Given the description of an element on the screen output the (x, y) to click on. 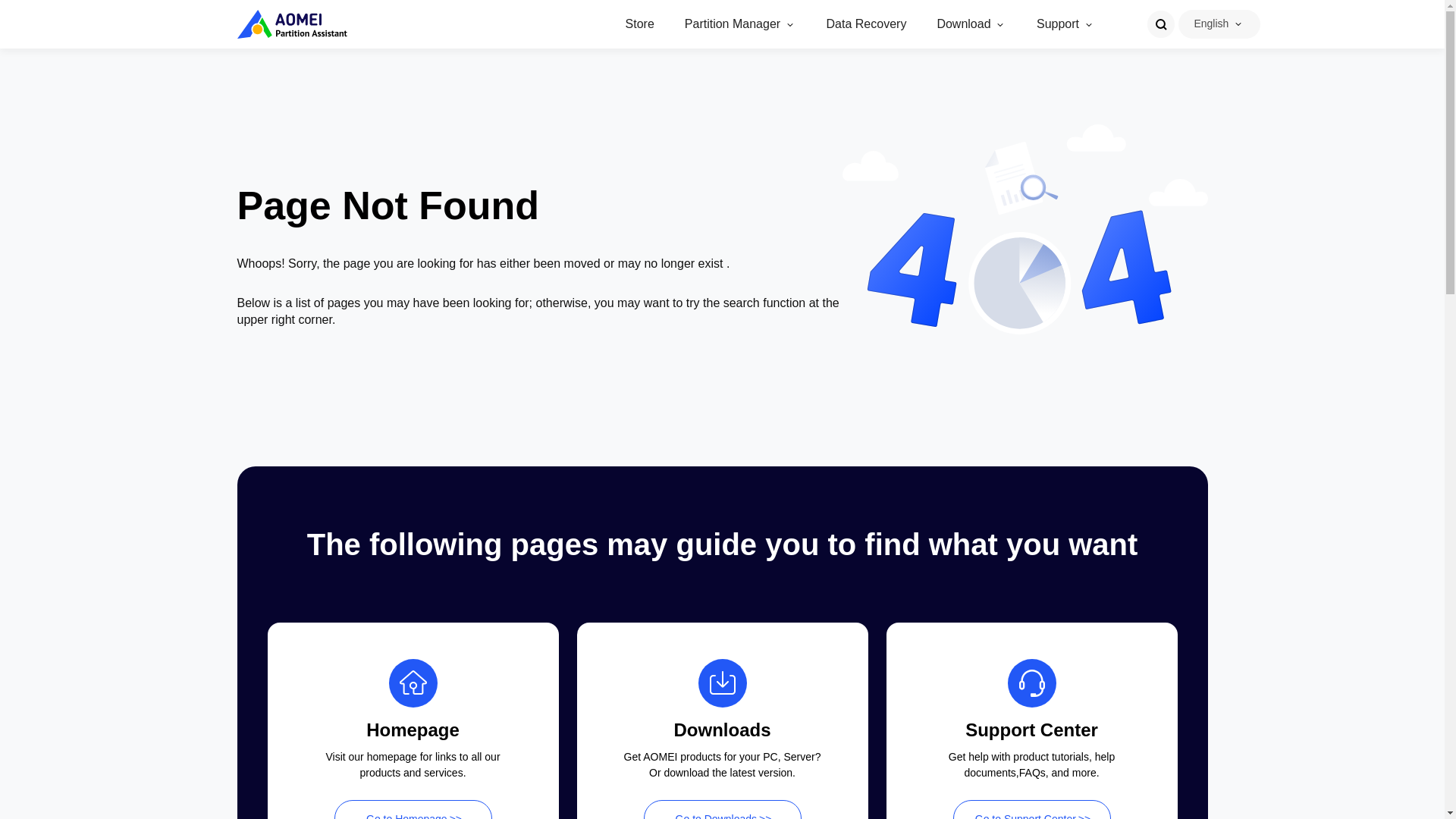
Go to Downloads (721, 809)
Go to Support Center (1030, 809)
Support (1057, 23)
Data Recovery (867, 23)
Go to Homepage (412, 809)
Store (639, 23)
Partition Manager (732, 23)
Download (963, 23)
Search (1160, 23)
English (1210, 23)
